Given the description of an element on the screen output the (x, y) to click on. 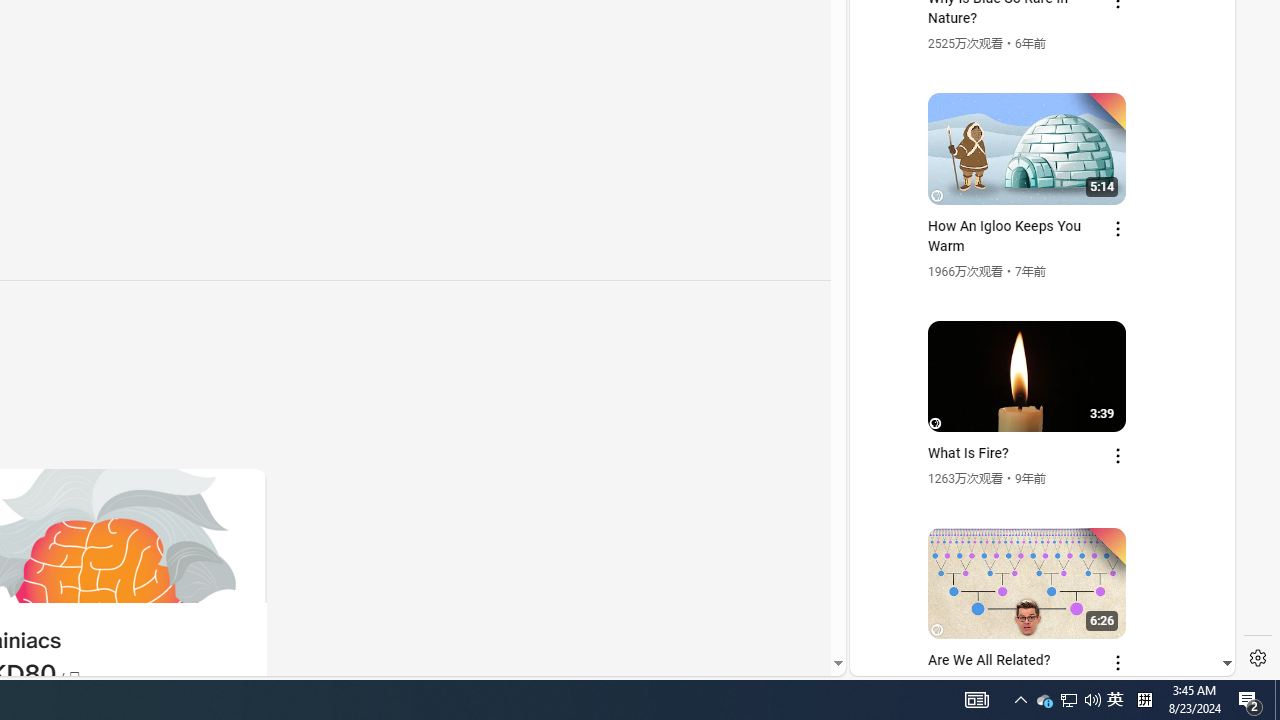
#you (1034, 439)
US[ju] (917, 660)
